Given the description of an element on the screen output the (x, y) to click on. 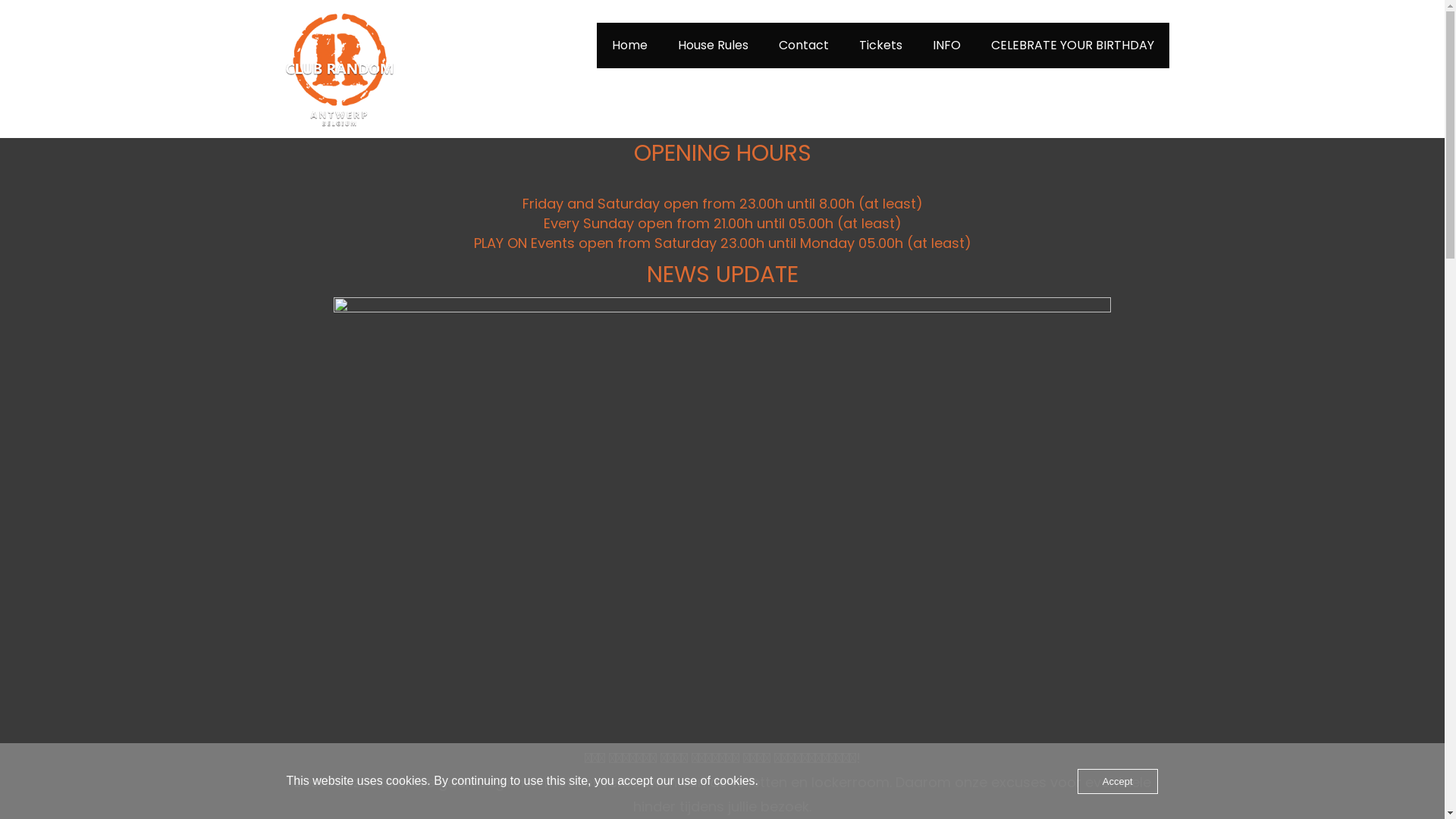
CELEBRATE YOUR BIRTHDAY Element type: text (1072, 45)
House Rules Element type: text (712, 45)
Accept Element type: text (1117, 780)
Contact Element type: text (803, 45)
INFO Element type: text (946, 45)
Home Element type: text (629, 45)
Tickets Element type: text (880, 45)
